Given the description of an element on the screen output the (x, y) to click on. 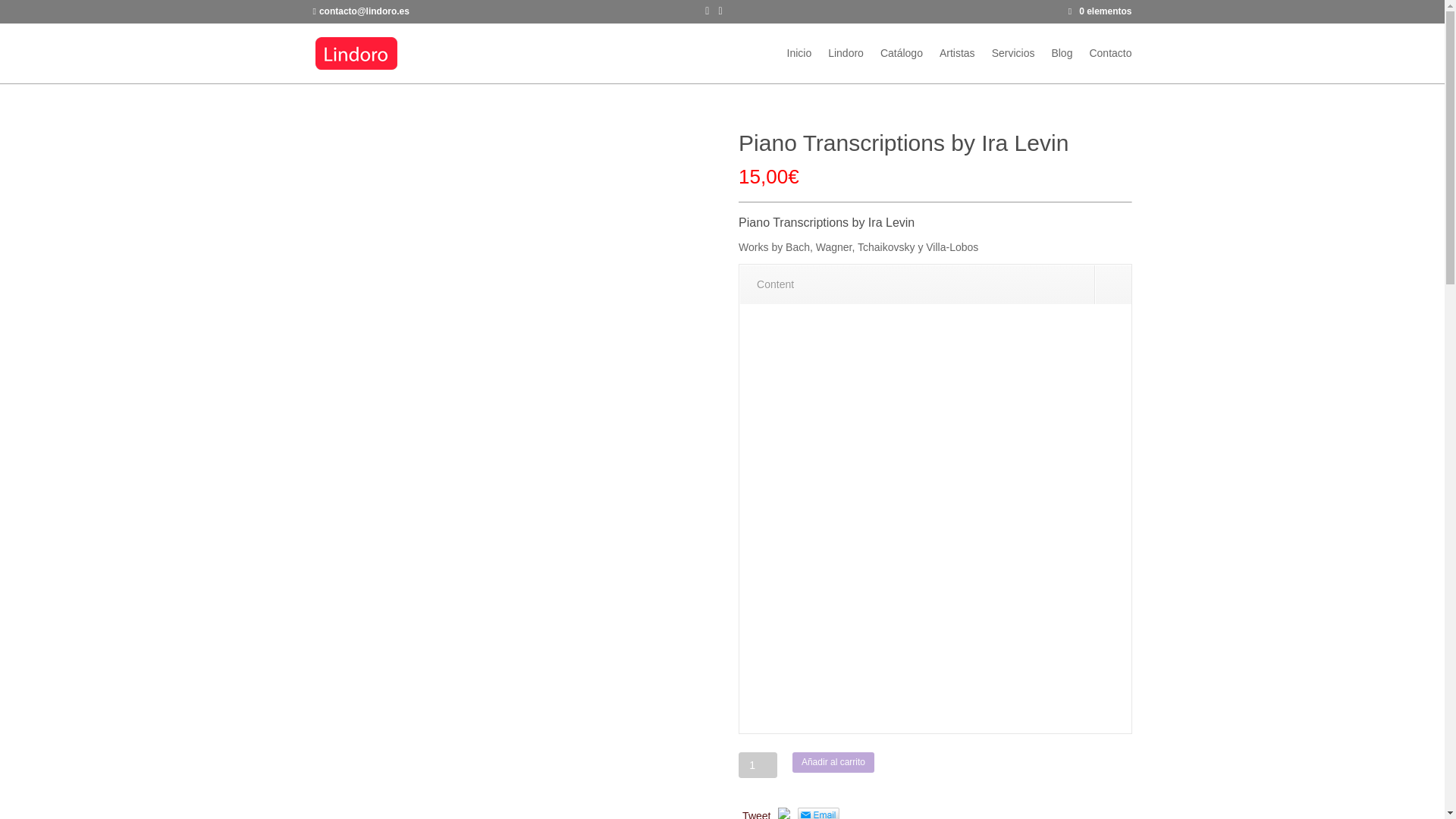
Servicios (1013, 65)
Artistas (957, 65)
Lindoro (845, 65)
0 elementos (1100, 10)
Contacto (1110, 65)
1 (757, 765)
Tweet (756, 814)
